Given the description of an element on the screen output the (x, y) to click on. 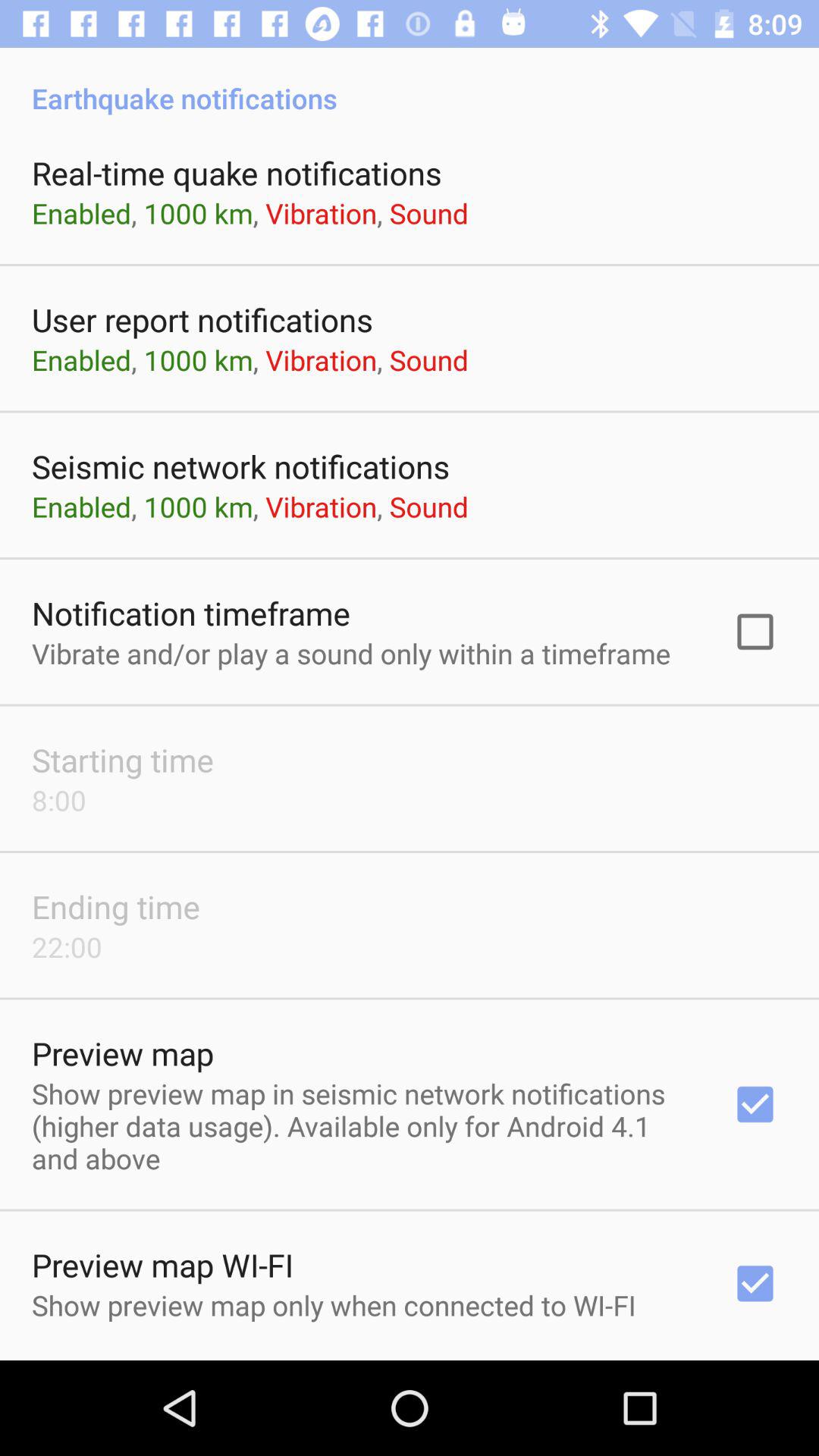
jump to chat notifications app (409, 1359)
